Given the description of an element on the screen output the (x, y) to click on. 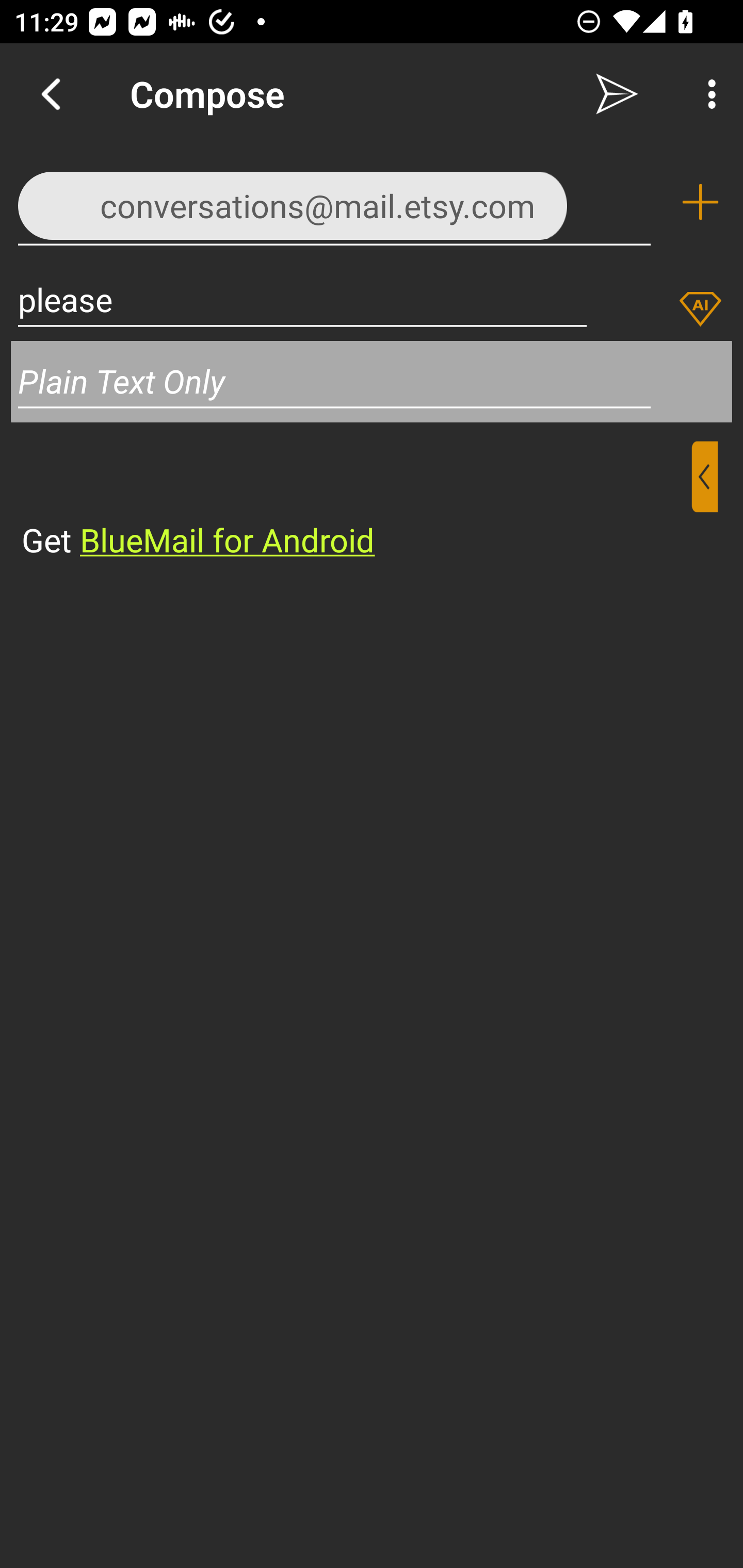
Navigate up (50, 93)
Send (616, 93)
More Options (706, 93)
<conversations@mail.etsy.com>,  (334, 201)
Add recipient (To) (699, 201)
please (302, 299)
Plain Text Only (371, 380)


⁣Get BlueMail for Android ​ (355, 501)
